Given the description of an element on the screen output the (x, y) to click on. 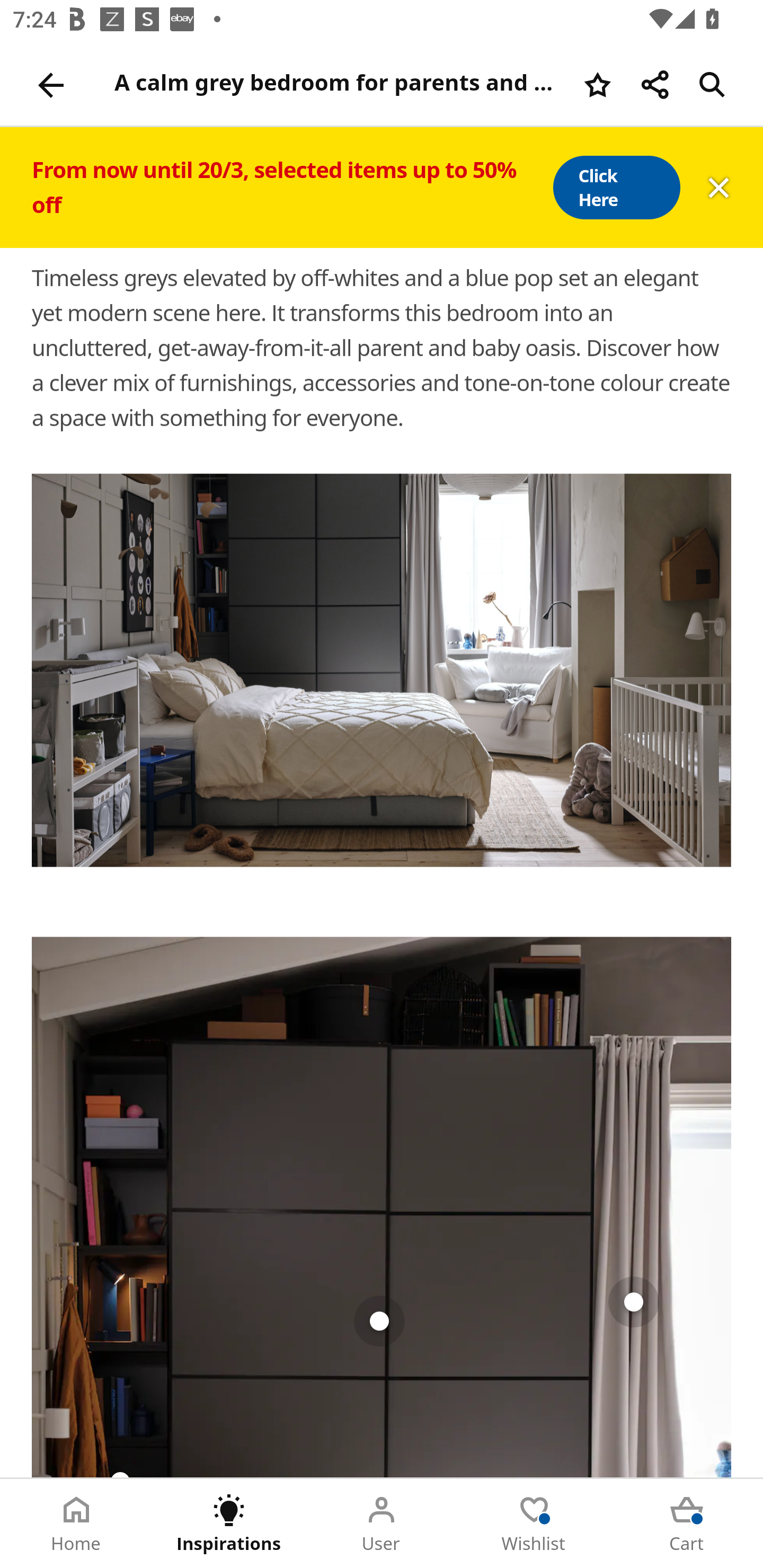
Click Here (615, 187)
Home
Tab 1 of 5 (76, 1522)
Inspirations
Tab 2 of 5 (228, 1522)
User
Tab 3 of 5 (381, 1522)
Wishlist
Tab 4 of 5 (533, 1522)
Cart
Tab 5 of 5 (686, 1522)
